Given the description of an element on the screen output the (x, y) to click on. 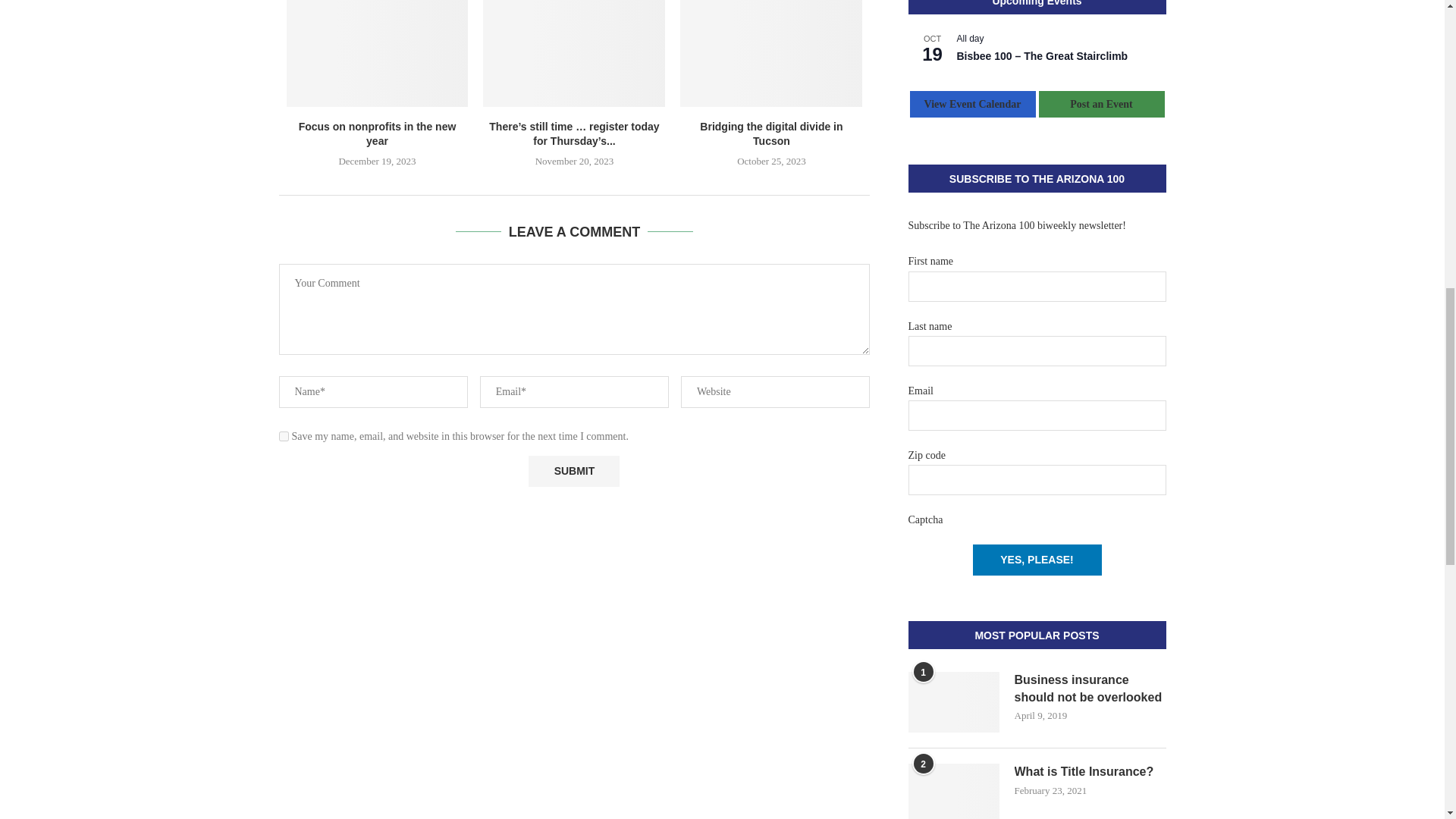
yes (283, 436)
Submit (574, 470)
Yes, Please! (1036, 559)
